Given the description of an element on the screen output the (x, y) to click on. 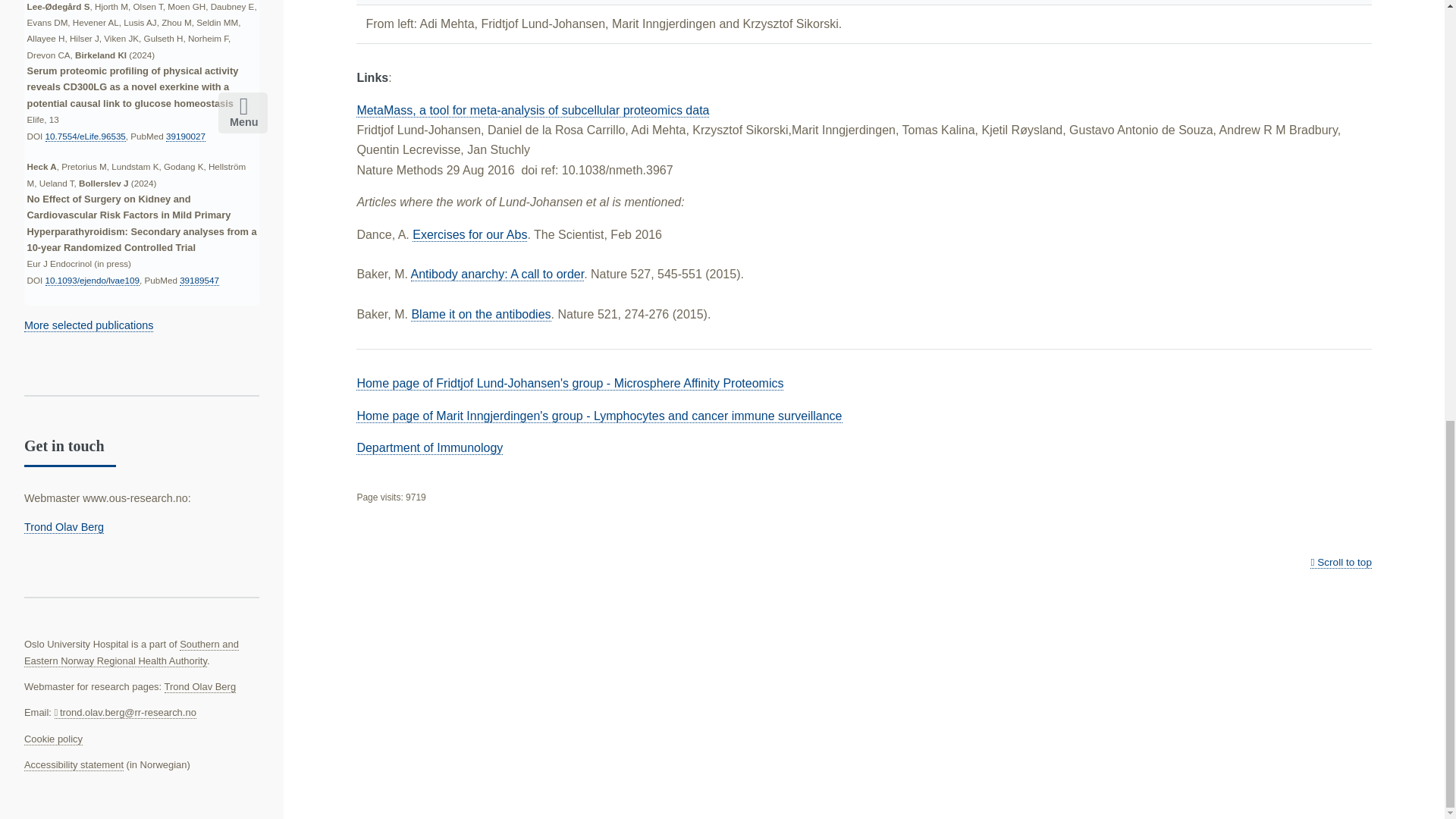
Exercises for our Abs (469, 234)
Blame it on the antibodies (480, 314)
Scroll to top (1340, 562)
Department of Immunology (429, 448)
Antibody anarchy: A call to order (497, 274)
